Given the description of an element on the screen output the (x, y) to click on. 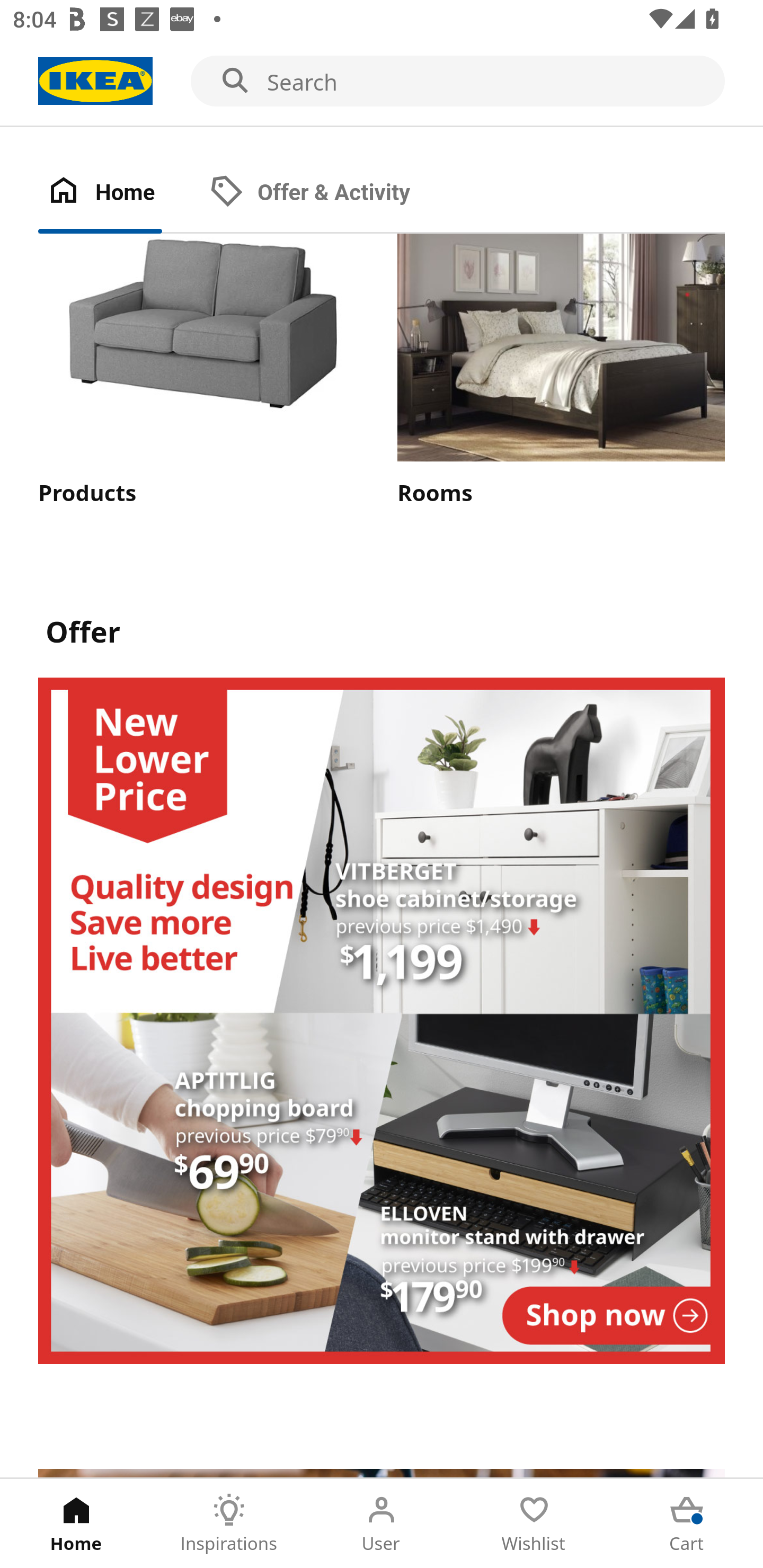
Search (381, 81)
Home
Tab 1 of 2 (118, 192)
Offer & Activity
Tab 2 of 2 (327, 192)
Products (201, 371)
Rooms (560, 371)
Home
Tab 1 of 5 (76, 1522)
Inspirations
Tab 2 of 5 (228, 1522)
User
Tab 3 of 5 (381, 1522)
Wishlist
Tab 4 of 5 (533, 1522)
Cart
Tab 5 of 5 (686, 1522)
